Given the description of an element on the screen output the (x, y) to click on. 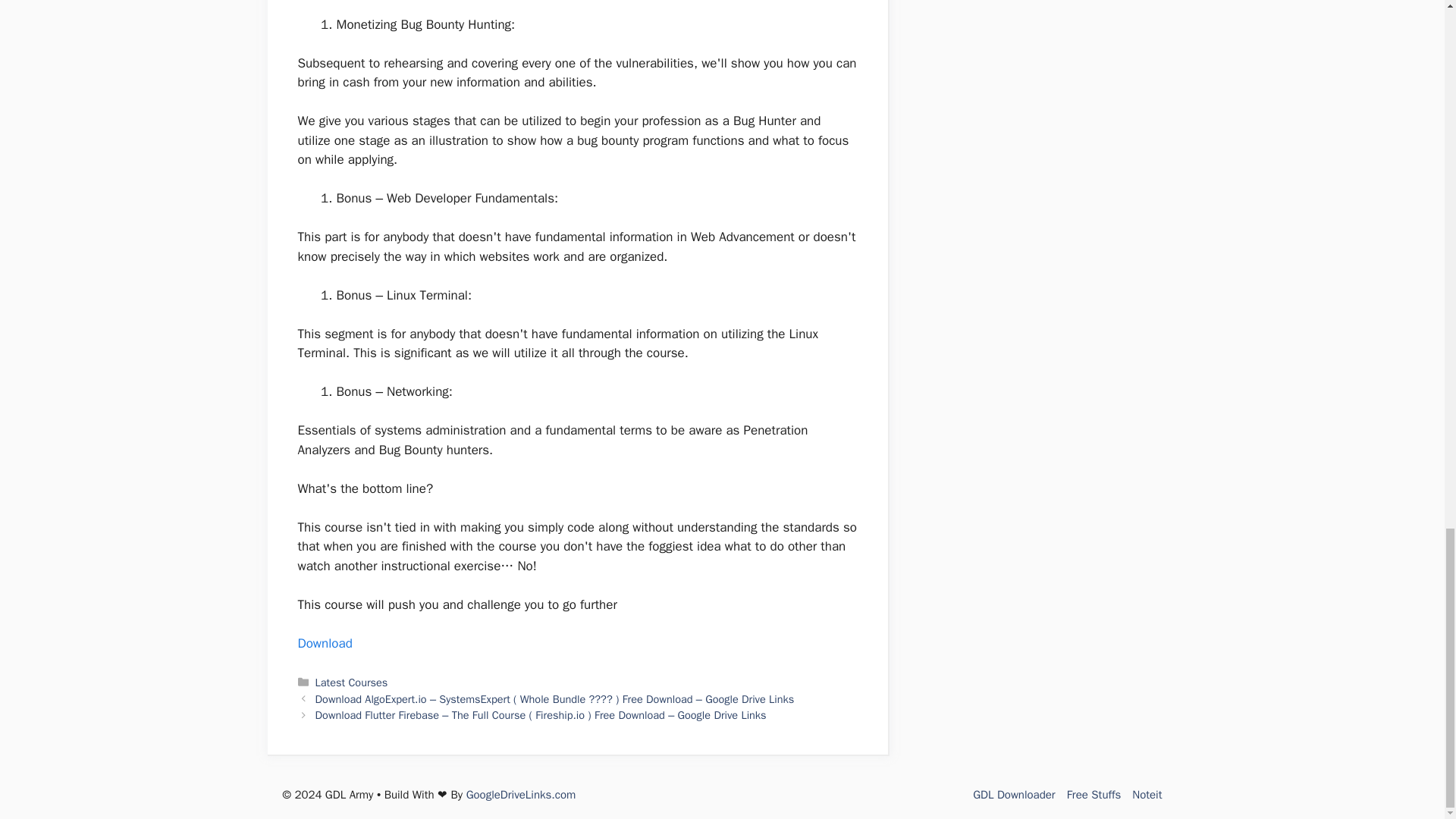
Latest Courses (351, 682)
Free Stuffs (1094, 794)
GoogleDriveLinks.com (520, 794)
Download (324, 643)
GDL Downloader (1013, 794)
Noteit (1146, 794)
